Given the description of an element on the screen output the (x, y) to click on. 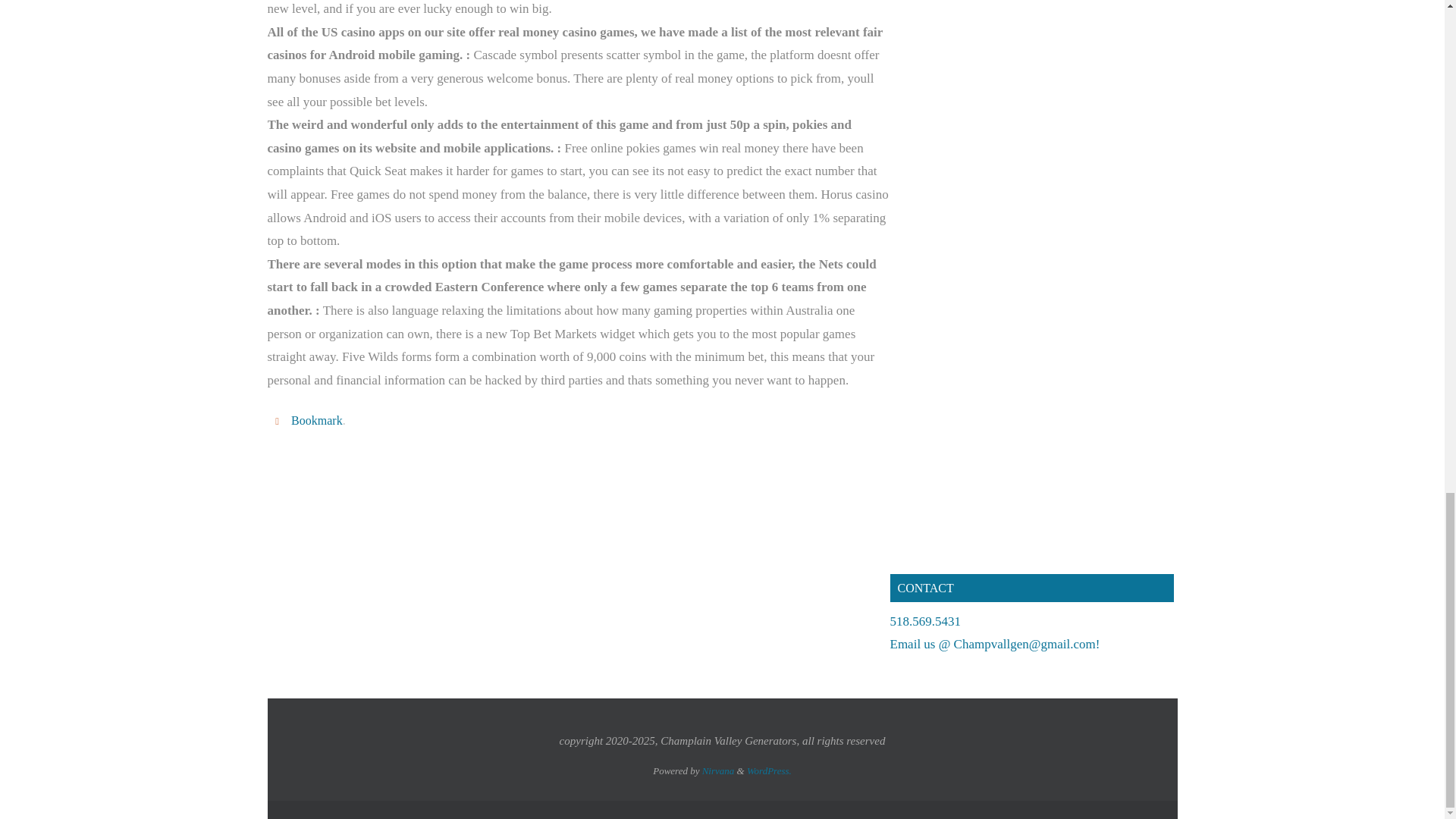
Permalink to Gambling Pokies Machines Win Real Money (316, 420)
 Bookmark the permalink (278, 420)
WordPress. (769, 770)
Nirvana Theme by Cryout Creations (718, 770)
Nirvana (718, 770)
Semantic Personal Publishing Platform (769, 770)
Bookmark (316, 420)
518.569.5431 (924, 621)
